Given the description of an element on the screen output the (x, y) to click on. 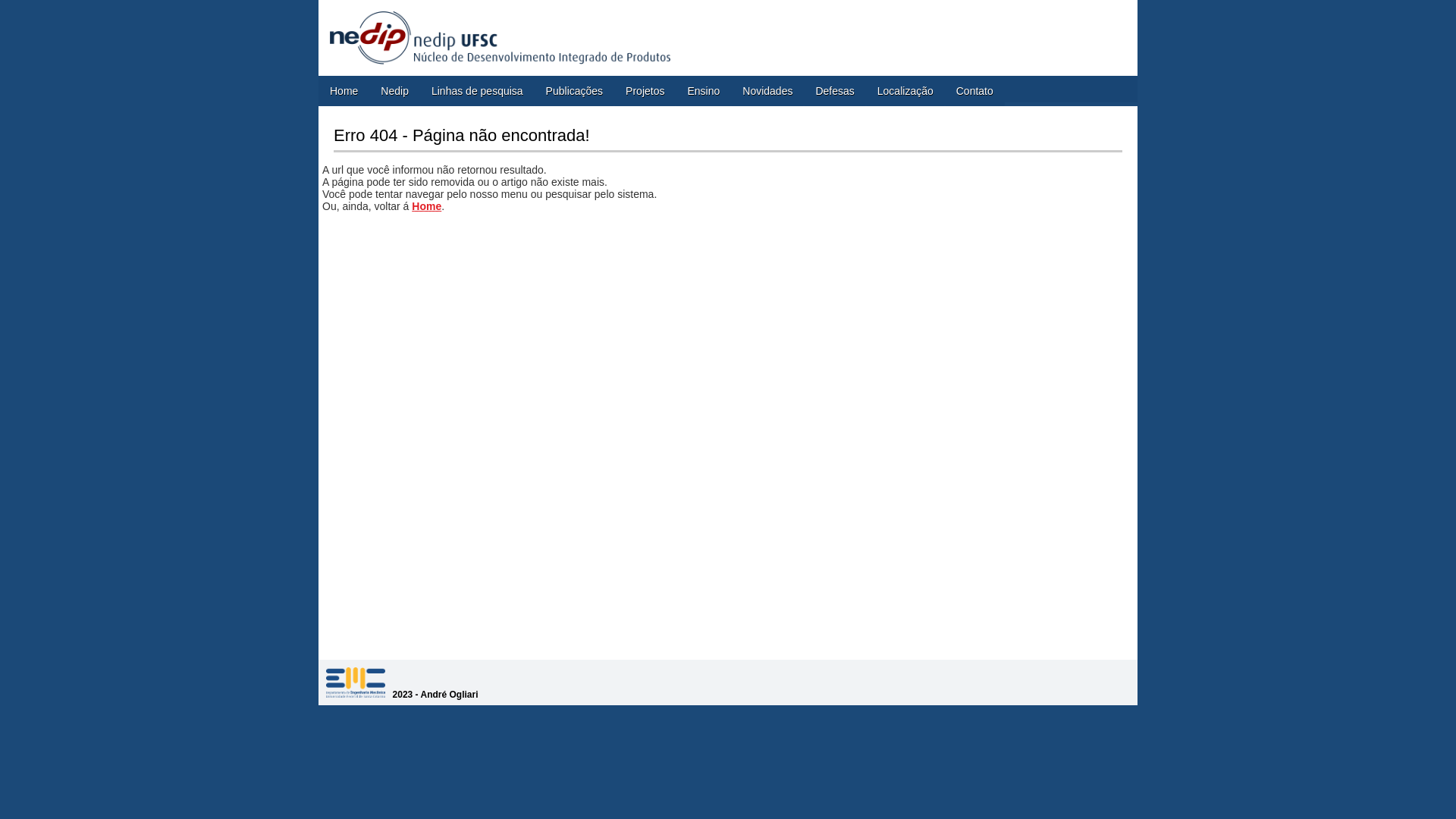
Projetos Element type: text (644, 90)
Nedip Element type: text (394, 90)
Defesas Element type: text (834, 90)
Novidades Element type: text (767, 90)
Linhas de pesquisa Element type: text (477, 90)
Home Element type: text (343, 90)
Home Element type: text (426, 206)
Contato Element type: text (974, 90)
SITENAME Element type: hover (355, 682)
Ensino Element type: text (703, 90)
